Given the description of an element on the screen output the (x, y) to click on. 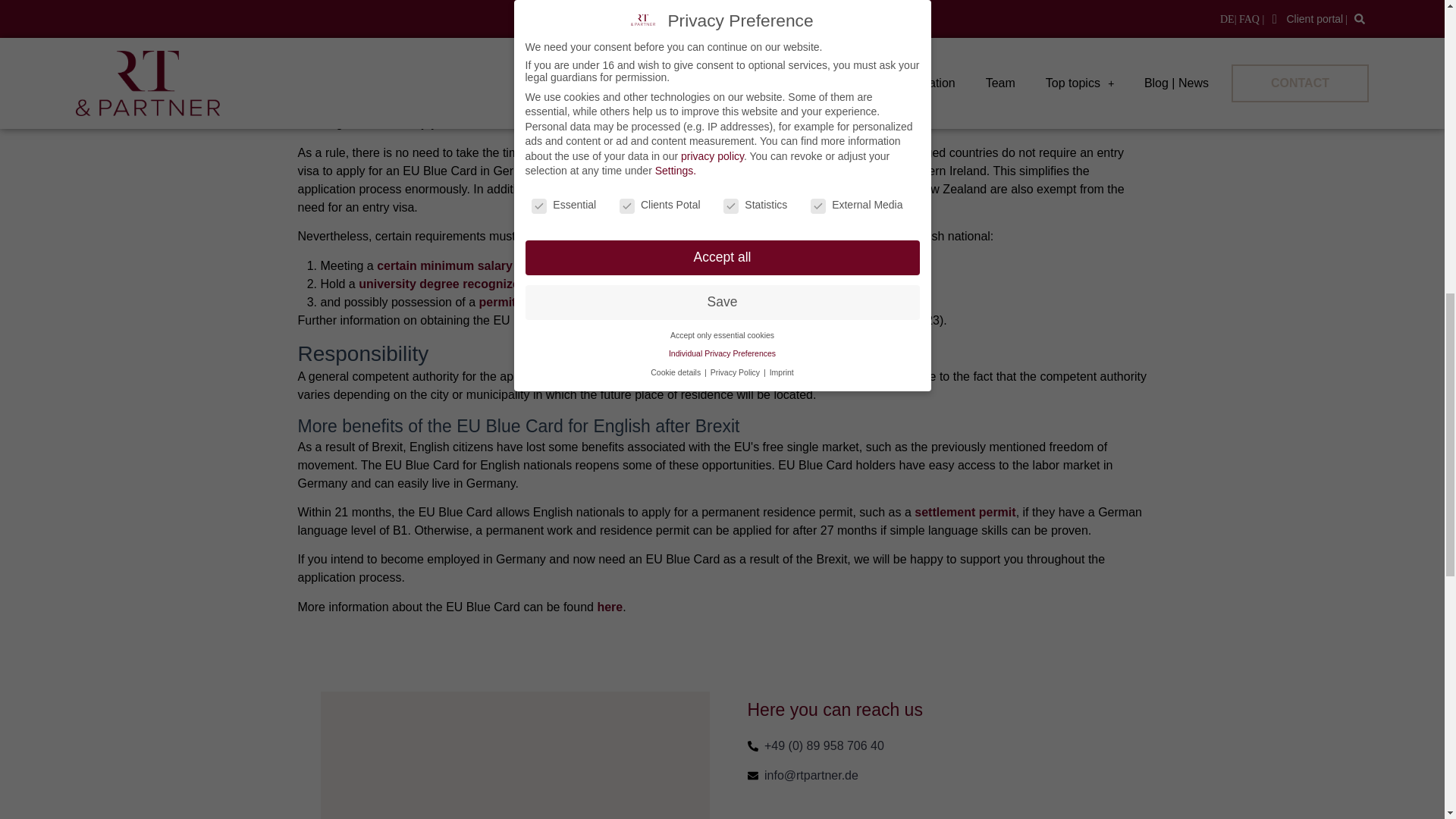
permit to practice the profession (573, 301)
certain minimum salary threshold (473, 265)
settlement permit (964, 512)
here (609, 606)
here (834, 319)
university degree recognized in (449, 283)
